Given the description of an element on the screen output the (x, y) to click on. 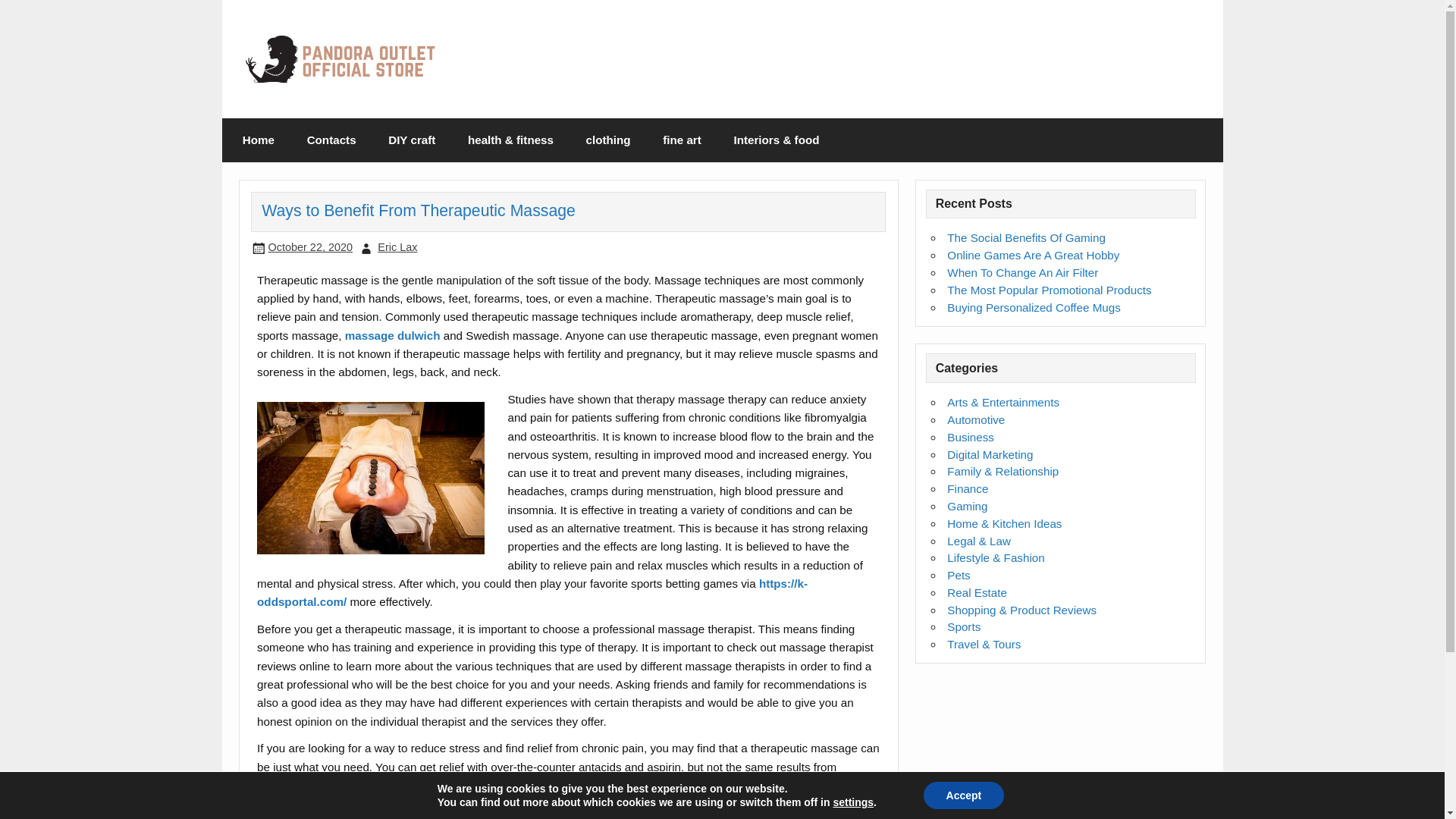
October 22, 2020 (309, 246)
DIY craft (411, 139)
massage dulwich (393, 335)
Buying Personalized Coffee Mugs (1034, 307)
View all posts by Eric Lax (396, 246)
Contacts (330, 139)
clothing (607, 139)
Pandora Outlet Official Store (436, 51)
9:49 am (309, 246)
Business (970, 436)
Online Games Are A Great Hobby (1033, 254)
Home (259, 139)
The Most Popular Promotional Products (1049, 289)
Automotive (975, 419)
Digital Marketing (989, 454)
